Given the description of an element on the screen output the (x, y) to click on. 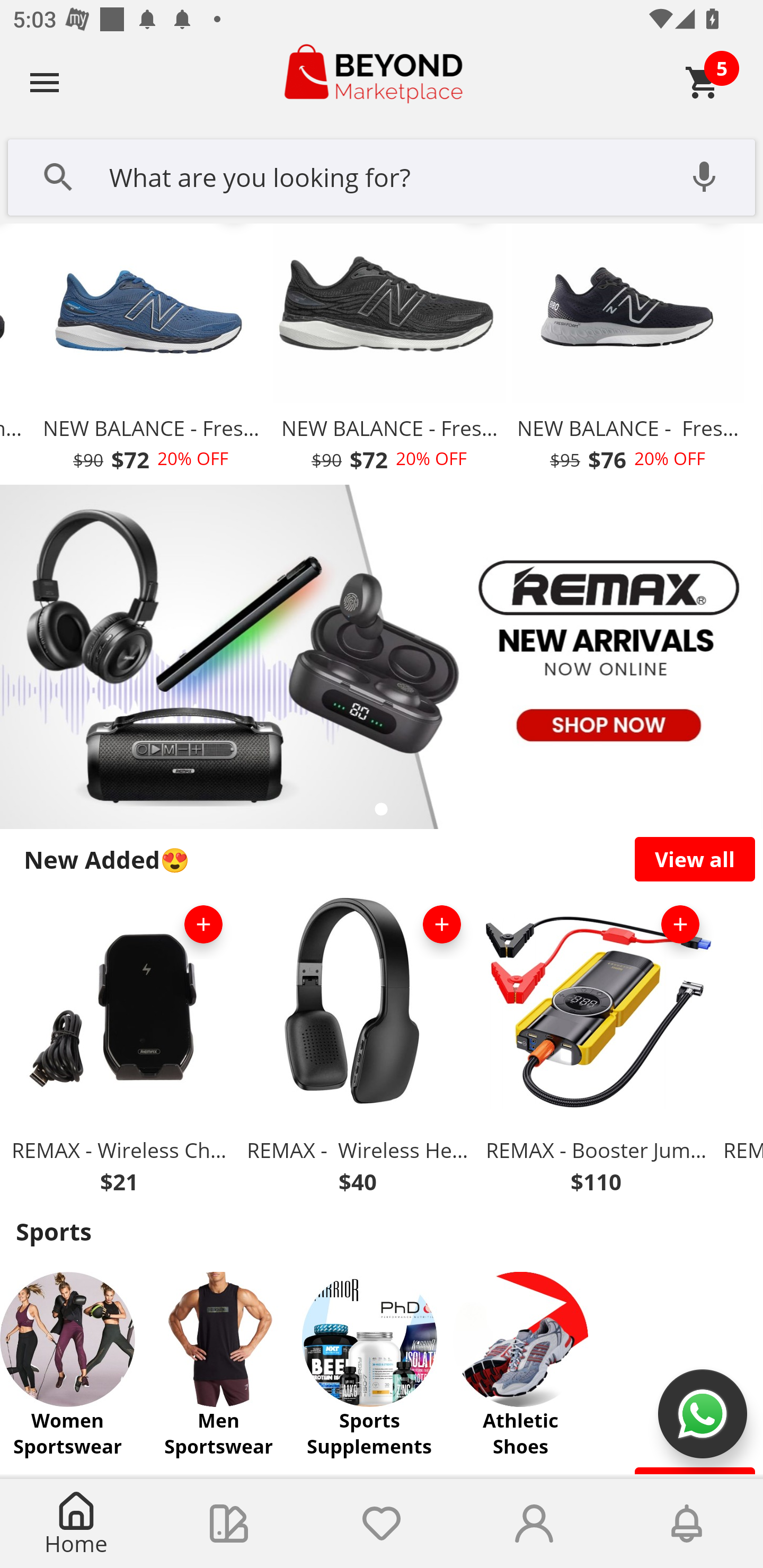
Navigate up (44, 82)
What are you looking for? (381, 175)
NEW BALANCE -  Fresh Foam X 880 $95 $76 20% OFF (627, 354)
View all (694, 859)
REMAX - Wireless Charging Phone Holder $21 (119, 1048)
REMAX -  Wireless Headphone RB-700HB Bluetooth $40 (357, 1048)
Collections (228, 1523)
Wishlist (381, 1523)
Account (533, 1523)
Notifications (686, 1523)
